Given the description of an element on the screen output the (x, y) to click on. 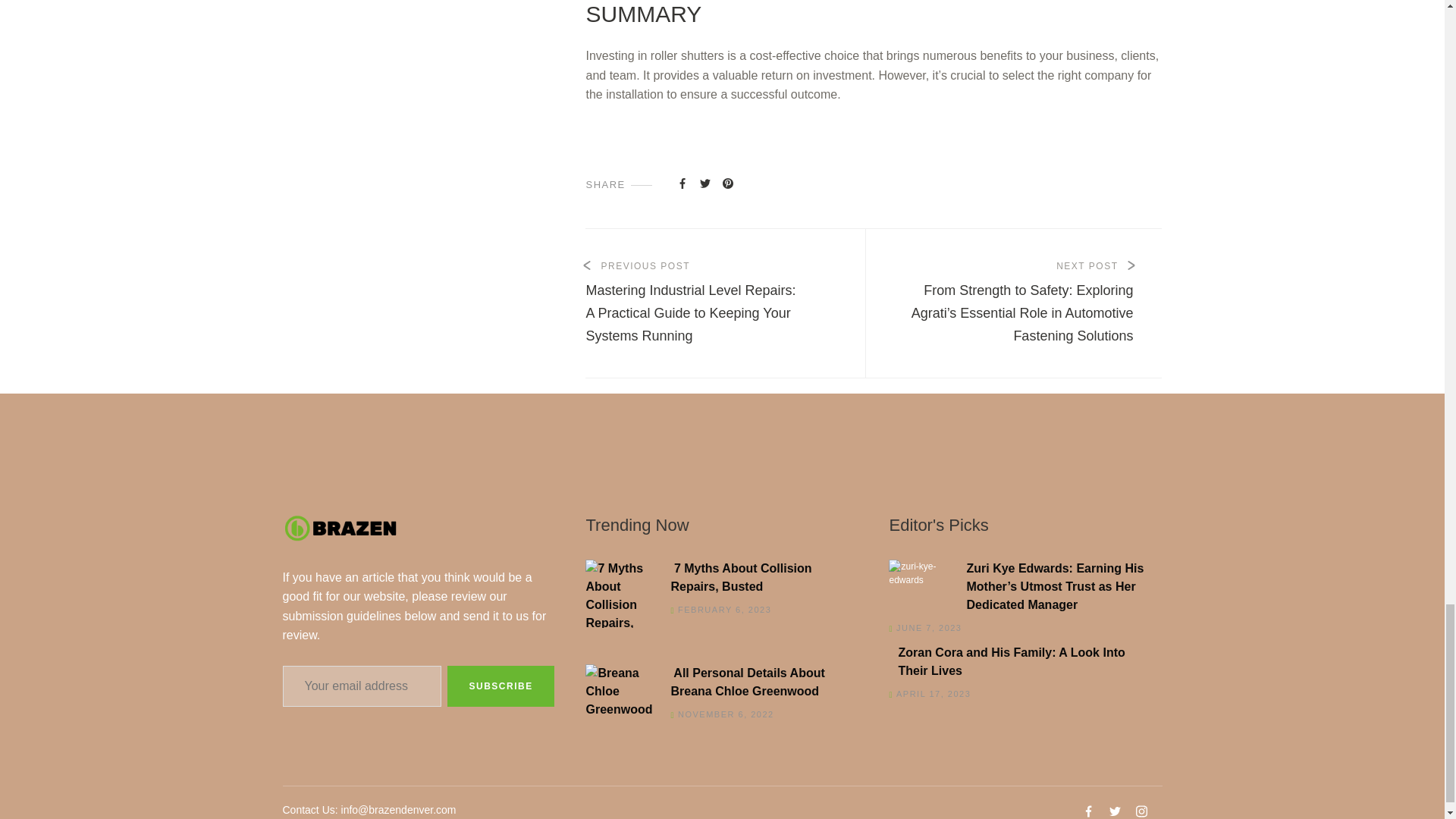
SUBSCRIBE (499, 685)
 7 Myths About Collision Repairs, Busted  (717, 577)
